Given the description of an element on the screen output the (x, y) to click on. 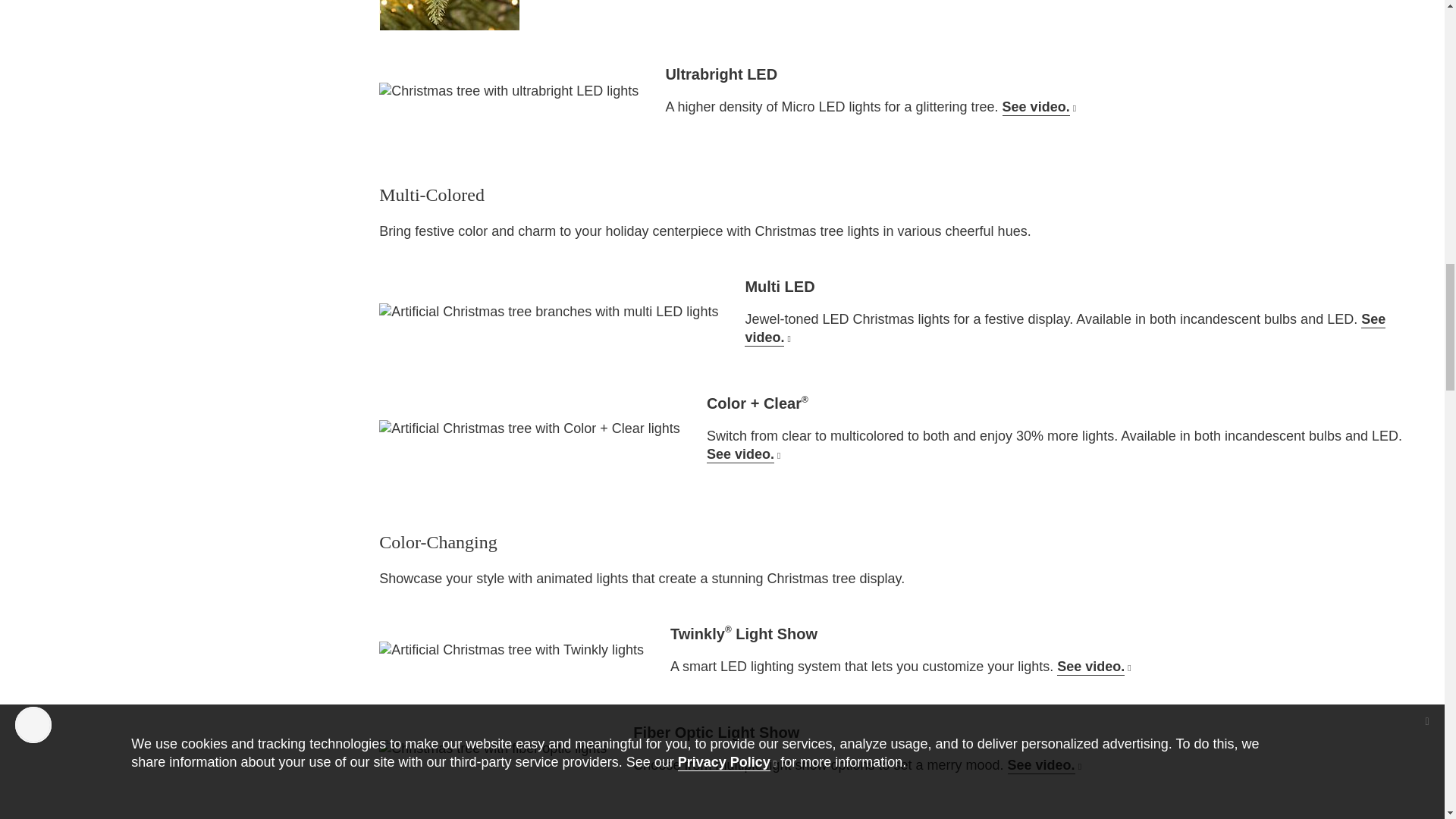
See video. (1065, 328)
See video. (1044, 765)
See video. (743, 453)
See video. (1094, 666)
See video. (1039, 106)
